Given the description of an element on the screen output the (x, y) to click on. 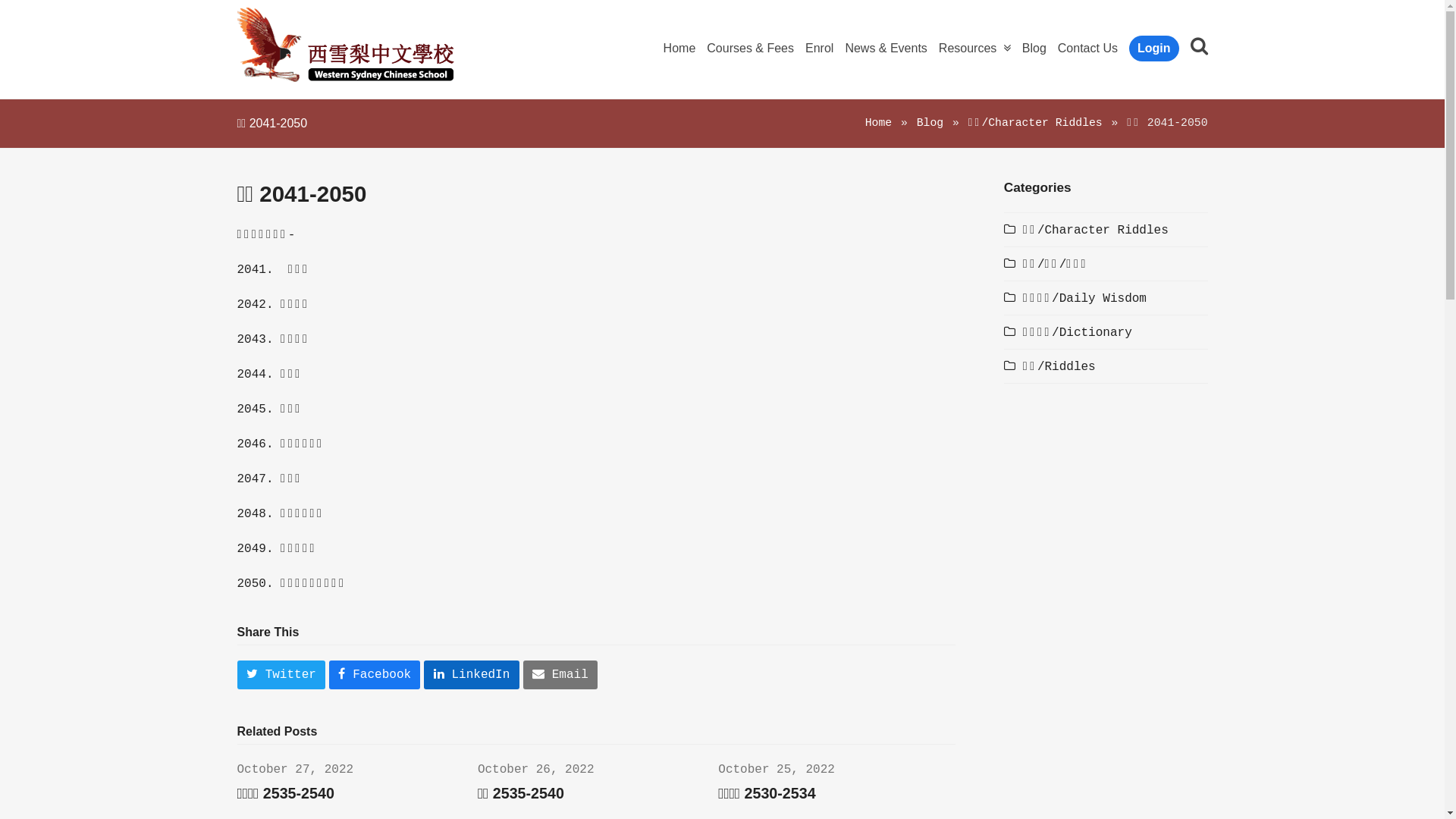
Home Element type: text (679, 49)
Resources Element type: text (974, 49)
Facebook Element type: text (374, 674)
Contact Us Element type: text (1087, 49)
Blog Element type: text (929, 122)
Twitter Element type: text (280, 674)
Login Element type: text (1154, 49)
Enrol Element type: text (819, 49)
Home Element type: text (878, 122)
Blog Element type: text (1034, 49)
Email Element type: text (560, 674)
LinkedIn Element type: text (470, 674)
Courses & Fees Element type: text (749, 49)
News & Events Element type: text (885, 49)
